Given the description of an element on the screen output the (x, y) to click on. 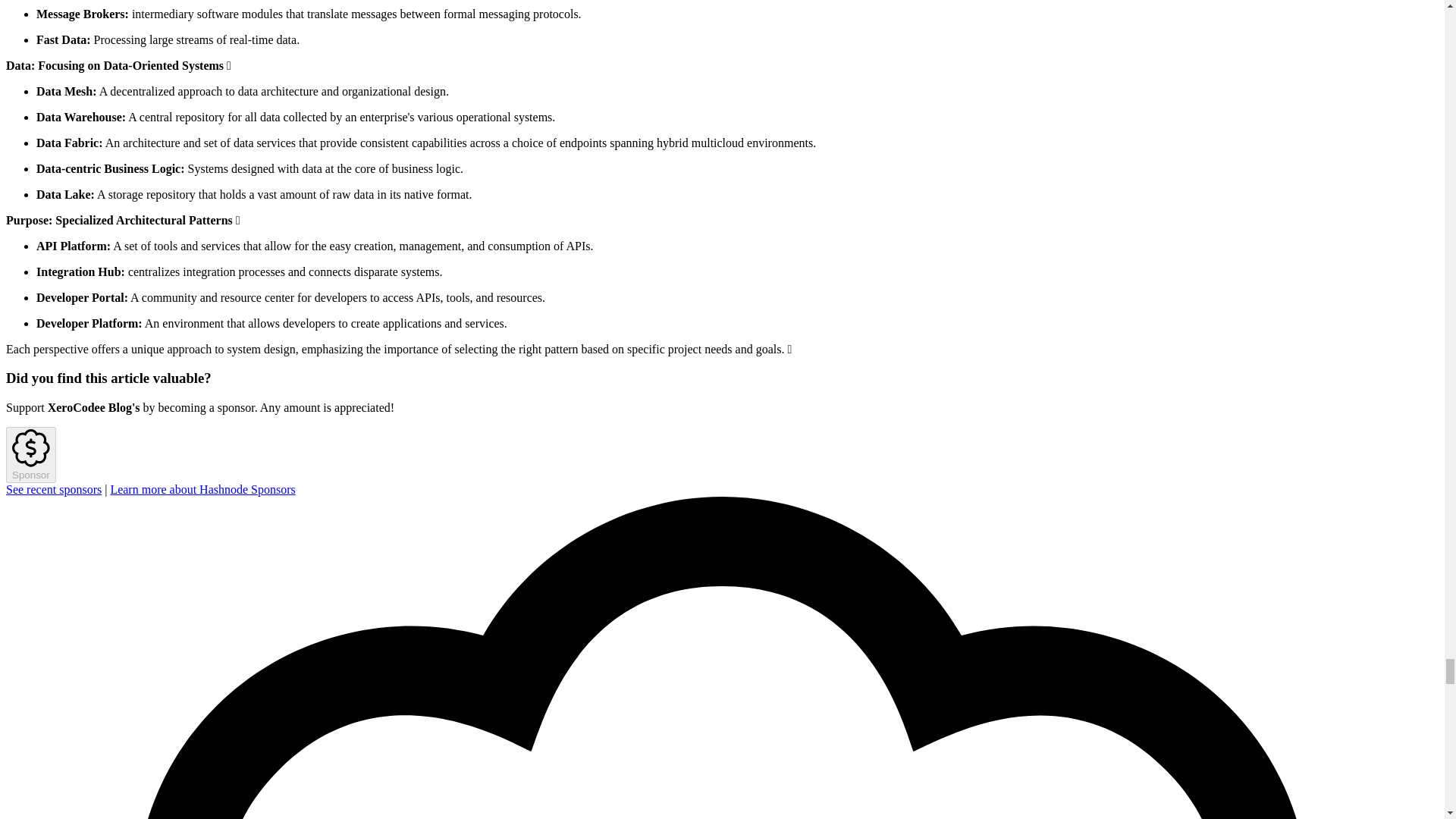
See recent sponsors (53, 489)
Sponsor (30, 454)
Learn more about Hashnode Sponsors (202, 489)
